Given the description of an element on the screen output the (x, y) to click on. 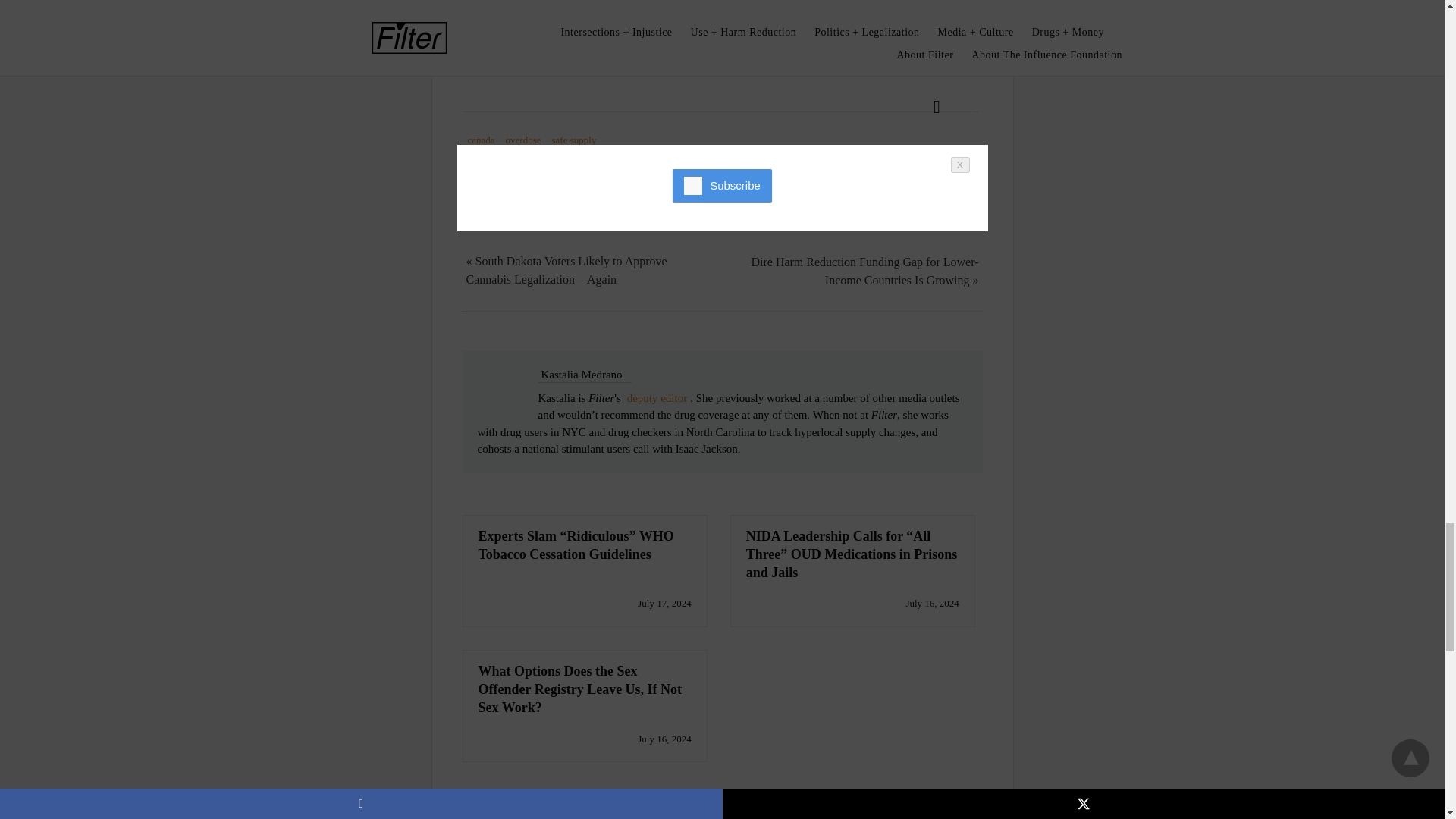
canada (481, 139)
Facebook (478, 70)
Email (537, 70)
canada (481, 139)
Kastalia Medrano (582, 375)
overdose (523, 139)
overdose (523, 139)
safe supply (573, 139)
safe supply (573, 139)
Twitter (507, 70)
